Given the description of an element on the screen output the (x, y) to click on. 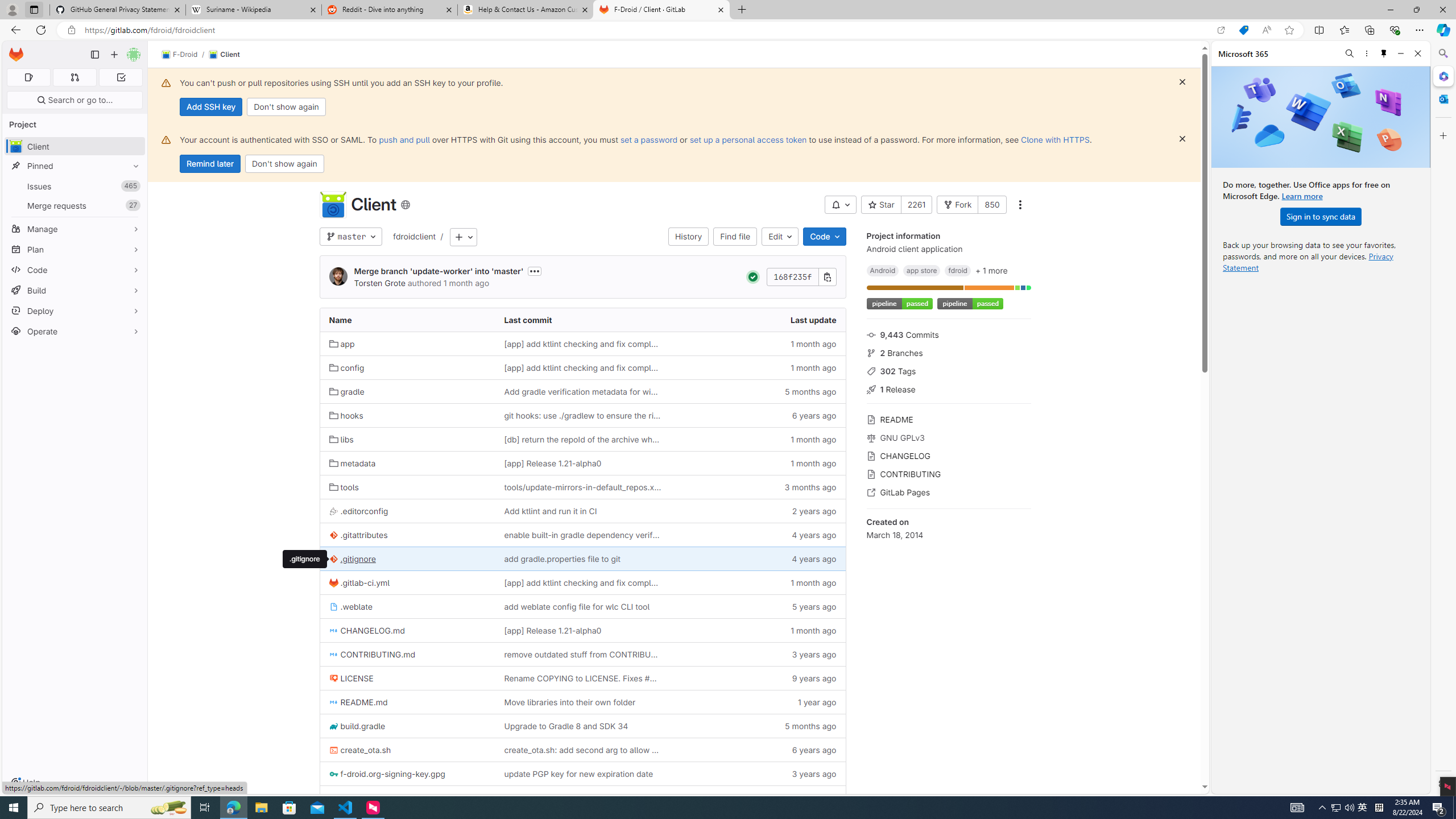
Open in app (1220, 29)
Class: s16 icon (405, 204)
Remind later (210, 163)
update PGP key for new expiration date (583, 773)
metadata (407, 463)
add gradle.properties file to git (561, 558)
Project badge (969, 303)
